Given the description of an element on the screen output the (x, y) to click on. 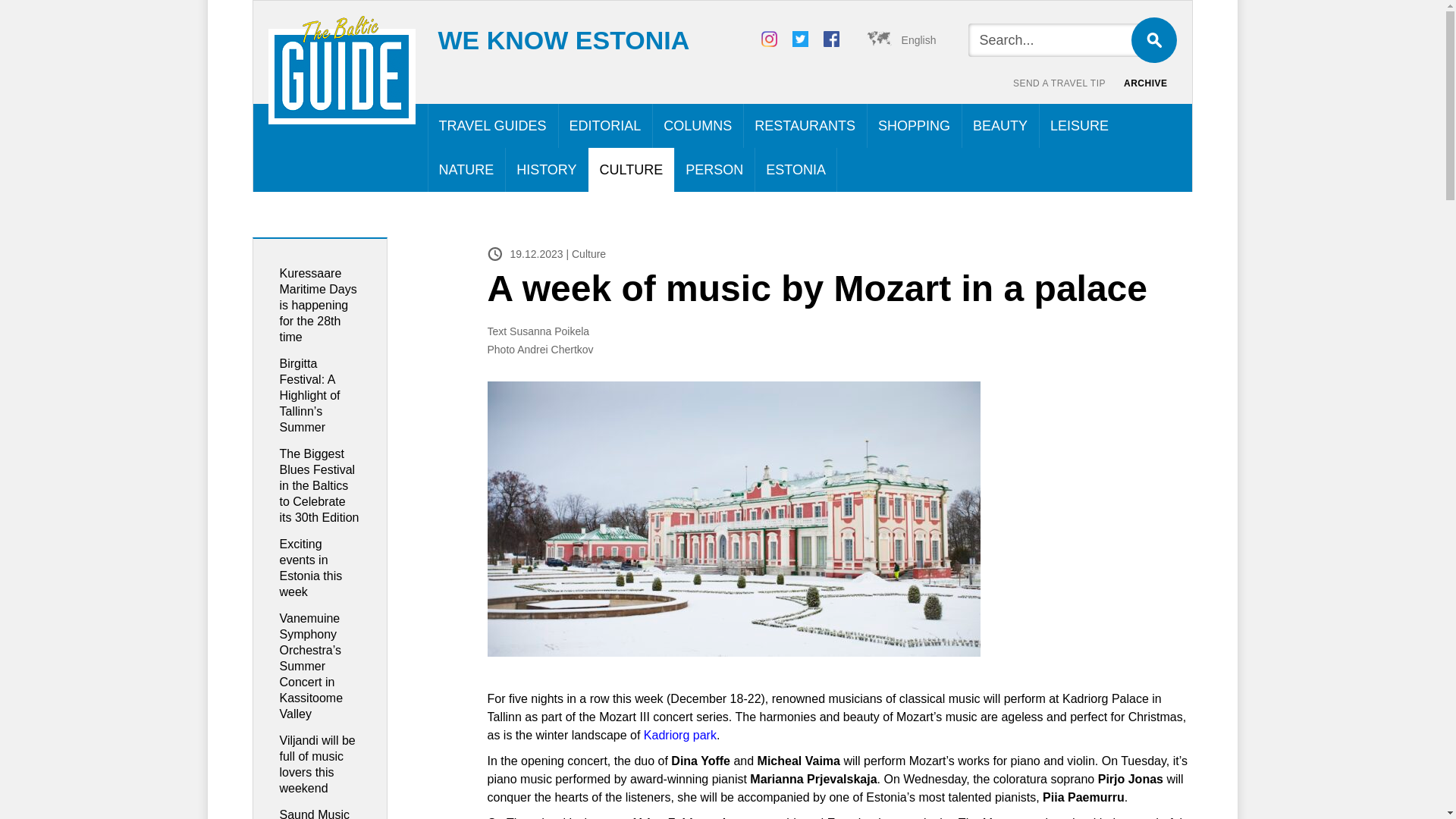
BEAUTY (999, 126)
Exciting events in Estonia this week (310, 567)
HISTORY (546, 169)
ESTONIA (795, 169)
COLUMNS (697, 126)
SEND A TRAVEL TIP (1059, 83)
English (903, 40)
CULTURE (631, 169)
ARCHIVE (1145, 83)
EDITORIAL (604, 126)
NATURE (466, 169)
Saund Music Festival this weekend in Hiiumaa (314, 813)
Search... (1060, 39)
SHOPPING (913, 126)
